Given the description of an element on the screen output the (x, y) to click on. 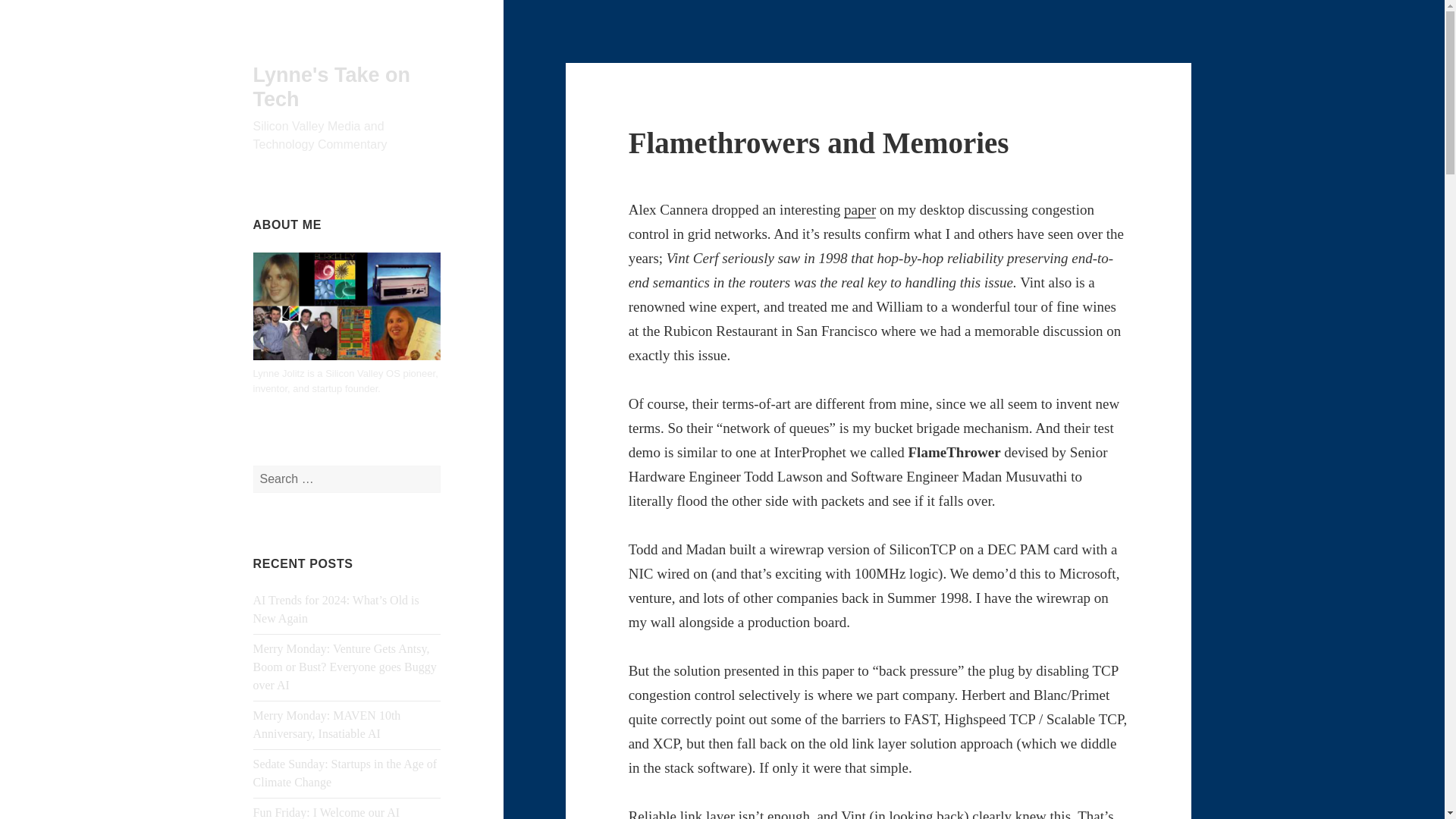
Lynne's Take on Tech (331, 86)
Sedate Sunday: Startups in the Age of Climate Change (345, 772)
Merry Monday: MAVEN 10th Anniversary, Insatiable AI (327, 724)
